Given the description of an element on the screen output the (x, y) to click on. 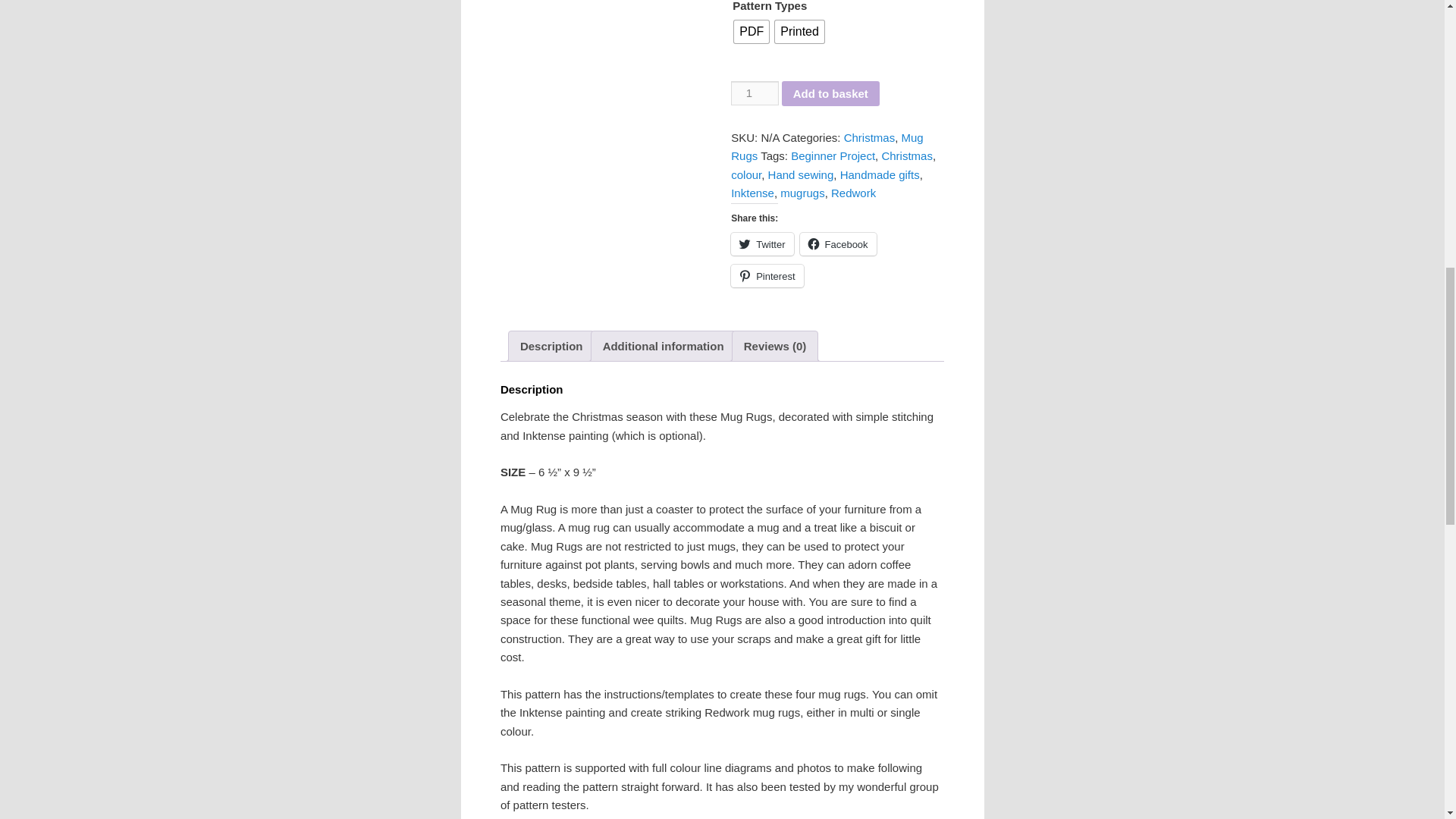
Add to basket (830, 94)
Twitter (761, 243)
Handmade gifts (880, 174)
mugrugs (802, 192)
Mug Rugs (826, 146)
1 (753, 93)
Hand sewing (801, 174)
Click to share on Pinterest (766, 275)
PDF (750, 31)
Christmas (906, 155)
